Given the description of an element on the screen output the (x, y) to click on. 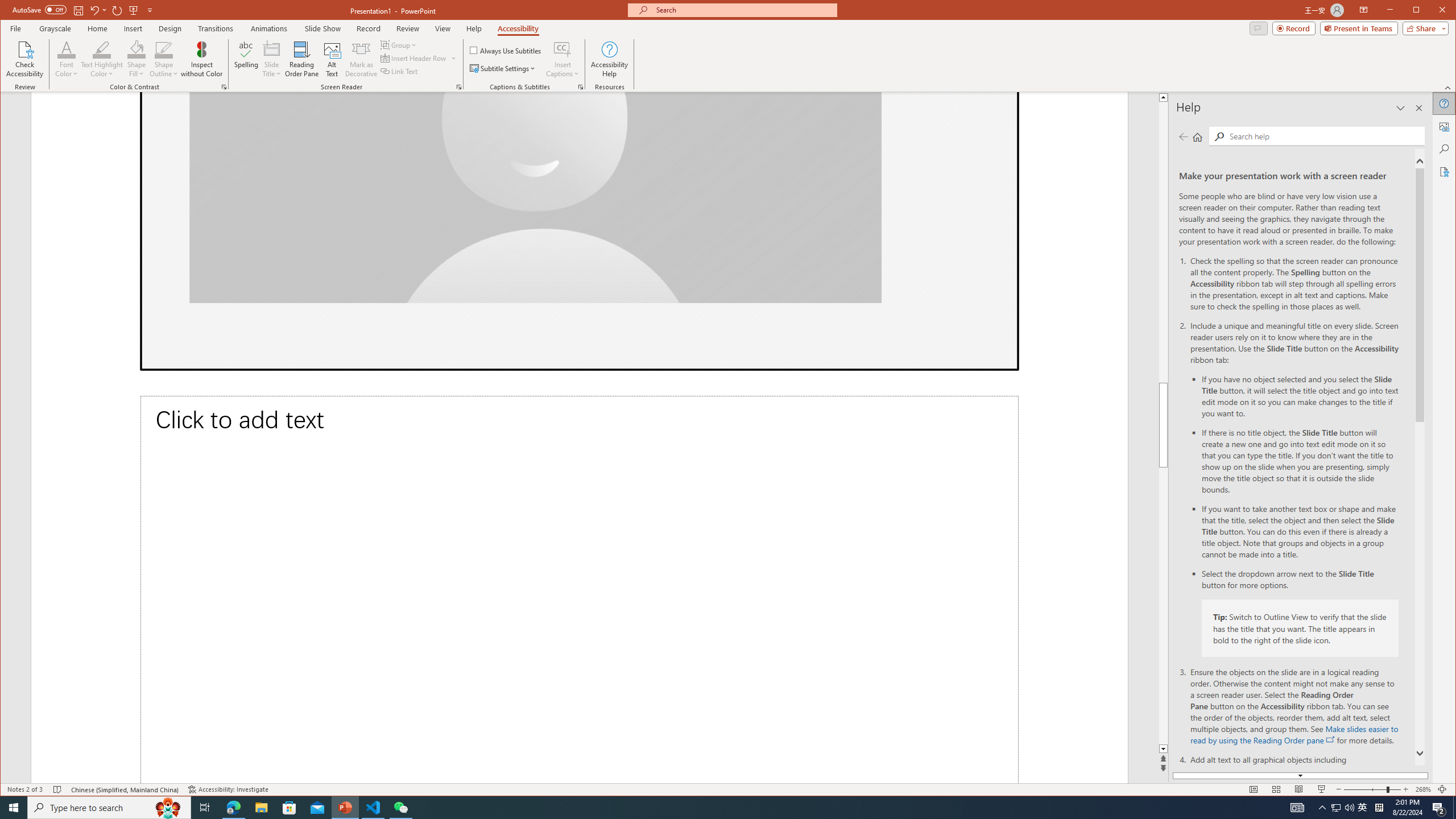
Link Text (399, 70)
Insert Captions (562, 48)
Reading Order Pane (301, 59)
Slide Title (271, 59)
